Given the description of an element on the screen output the (x, y) to click on. 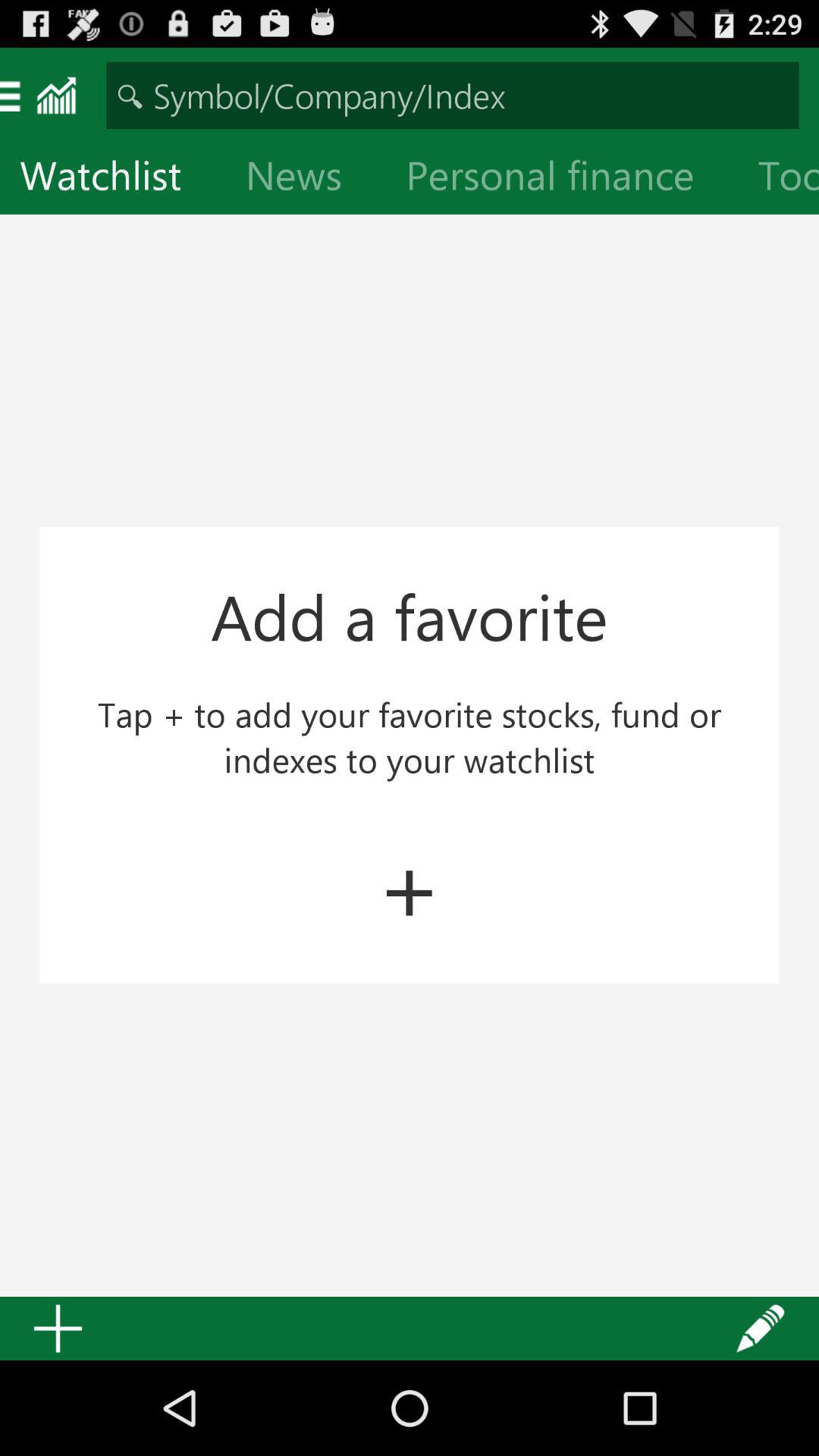
open item next to news item (562, 178)
